Given the description of an element on the screen output the (x, y) to click on. 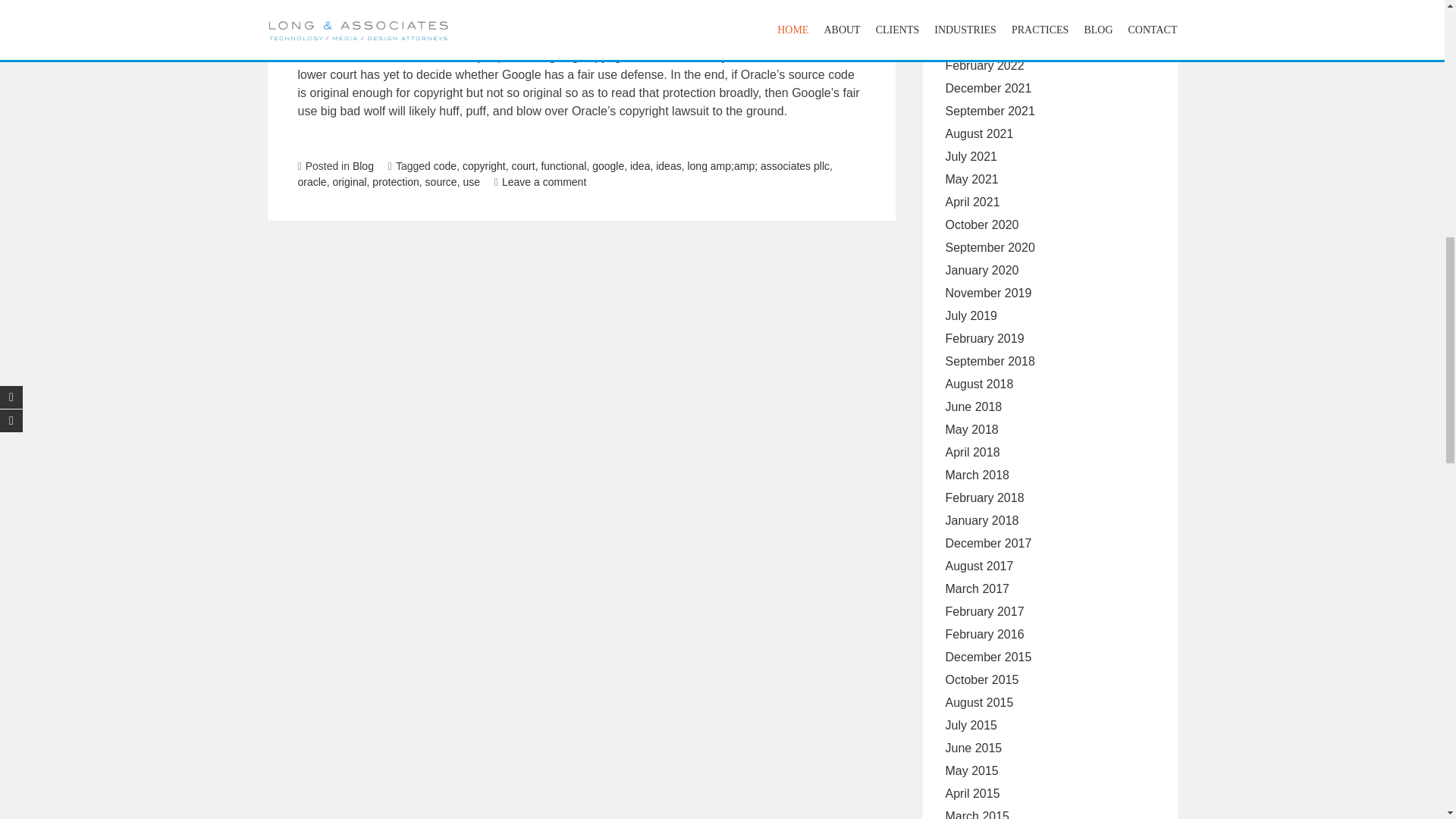
use (471, 182)
original (348, 182)
google (608, 165)
Leave a comment (540, 182)
court (522, 165)
code (445, 165)
protection (395, 182)
idea (639, 165)
ideas (668, 165)
long amp;amp; associates pllc (758, 165)
